Given the description of an element on the screen output the (x, y) to click on. 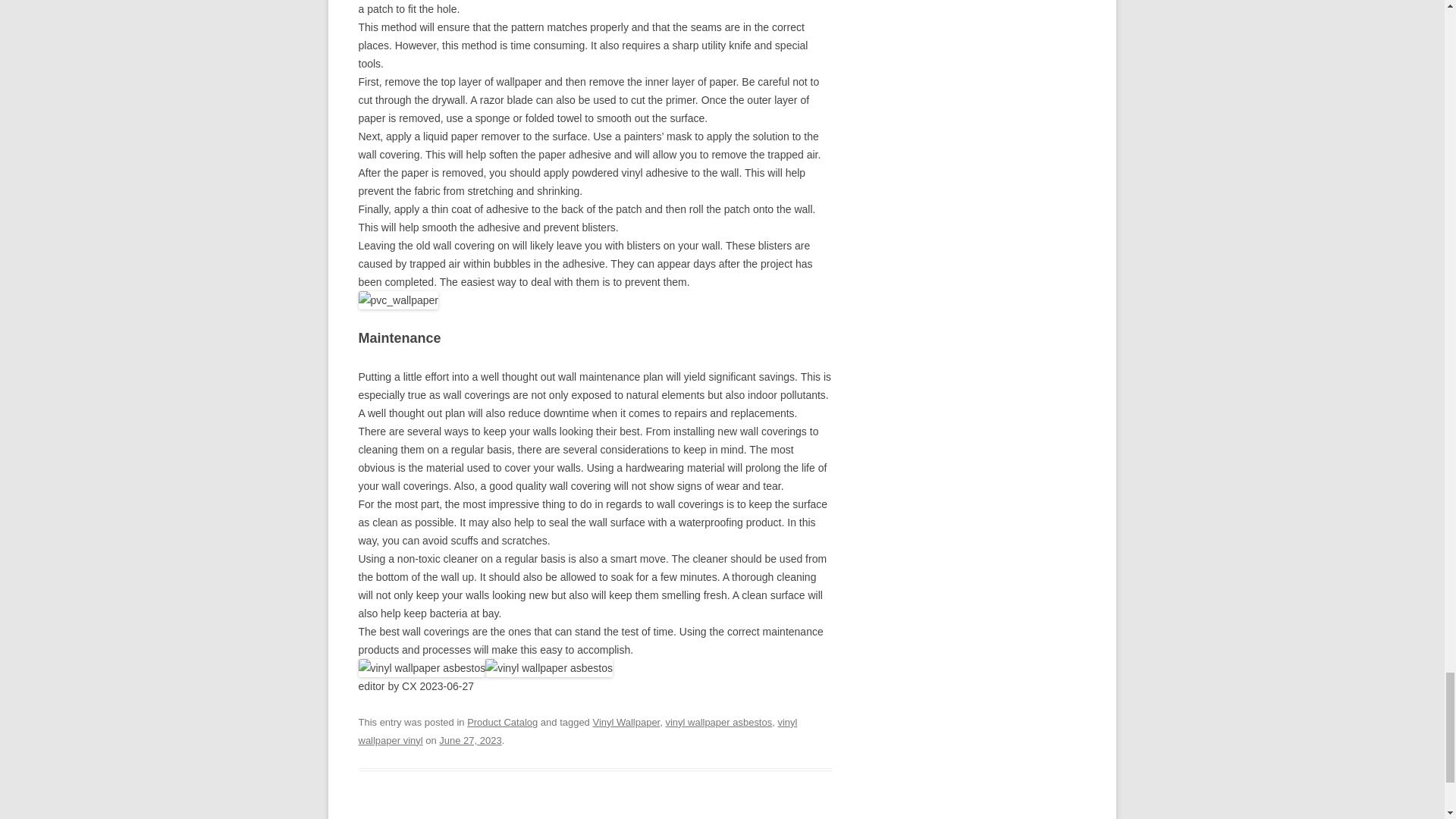
vinyl wallpaper asbestos (718, 722)
vinyl wallpaper vinyl (577, 731)
Product Catalog (502, 722)
1:43 am (469, 740)
June 27, 2023 (469, 740)
Vinyl Wallpaper (625, 722)
